Given the description of an element on the screen output the (x, y) to click on. 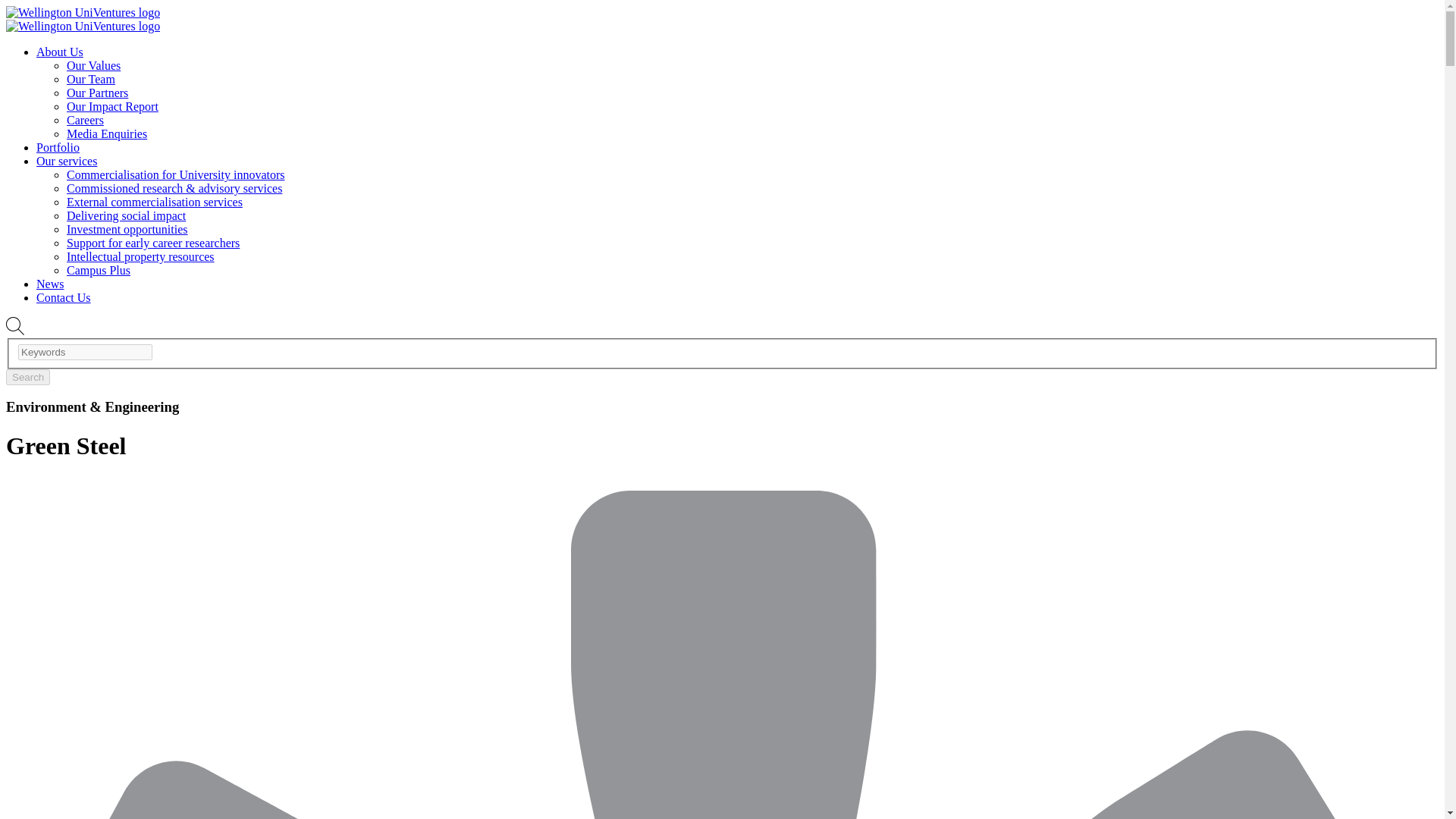
Search (27, 376)
Careers (84, 119)
Campus Plus (98, 269)
Intellectual property resources (140, 256)
Media Enquiries (106, 133)
Our Team (90, 78)
About Us (59, 51)
Commercialisation for University innovators (175, 174)
Delivering social impact (126, 215)
Our Values (93, 65)
